Given the description of an element on the screen output the (x, y) to click on. 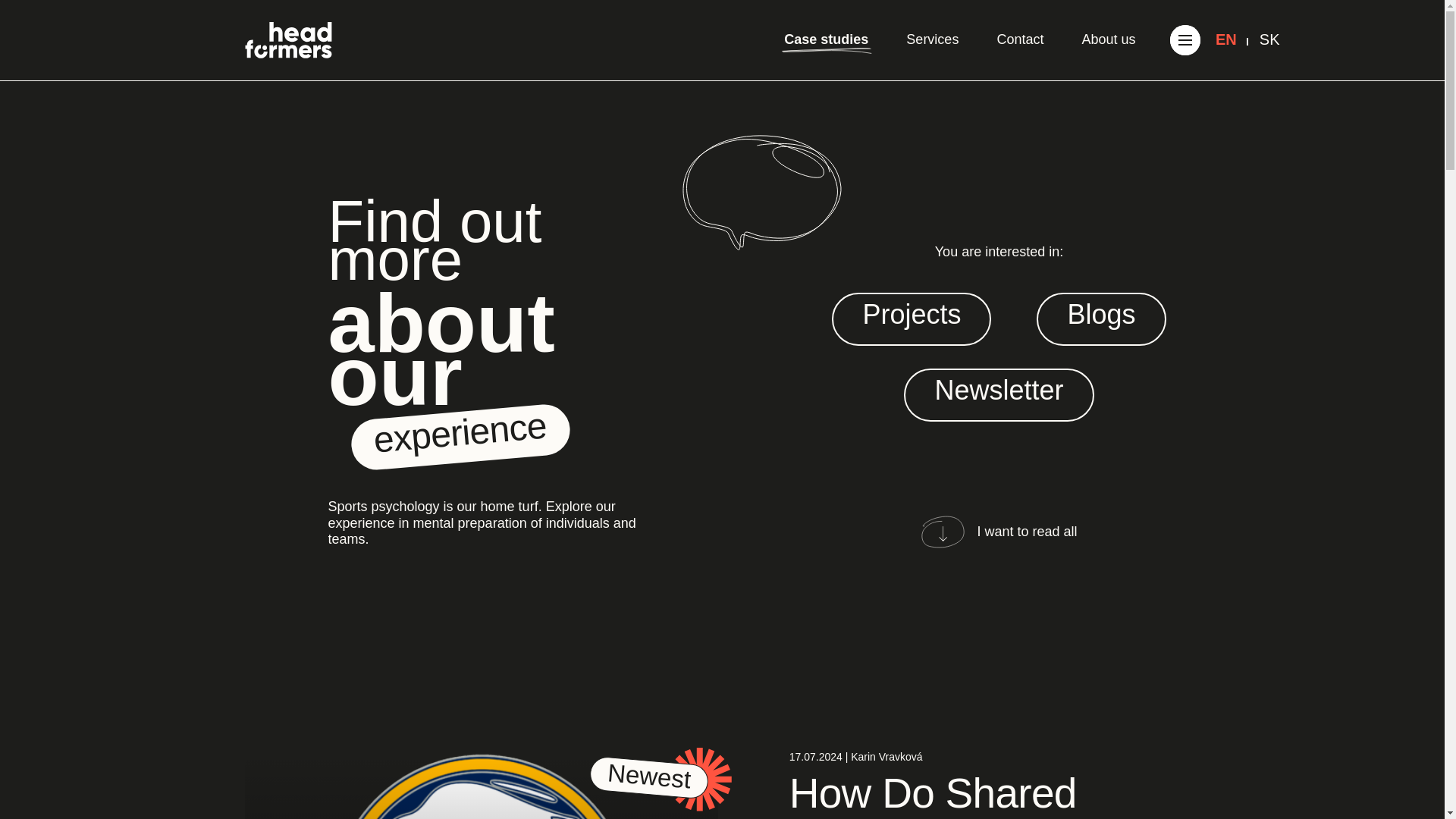
Services (931, 40)
I want to read all (998, 531)
Contact (1019, 40)
EN (1225, 39)
Newsletter (998, 406)
Case studies (825, 40)
SK (1269, 39)
About us (1108, 40)
